Given the description of an element on the screen output the (x, y) to click on. 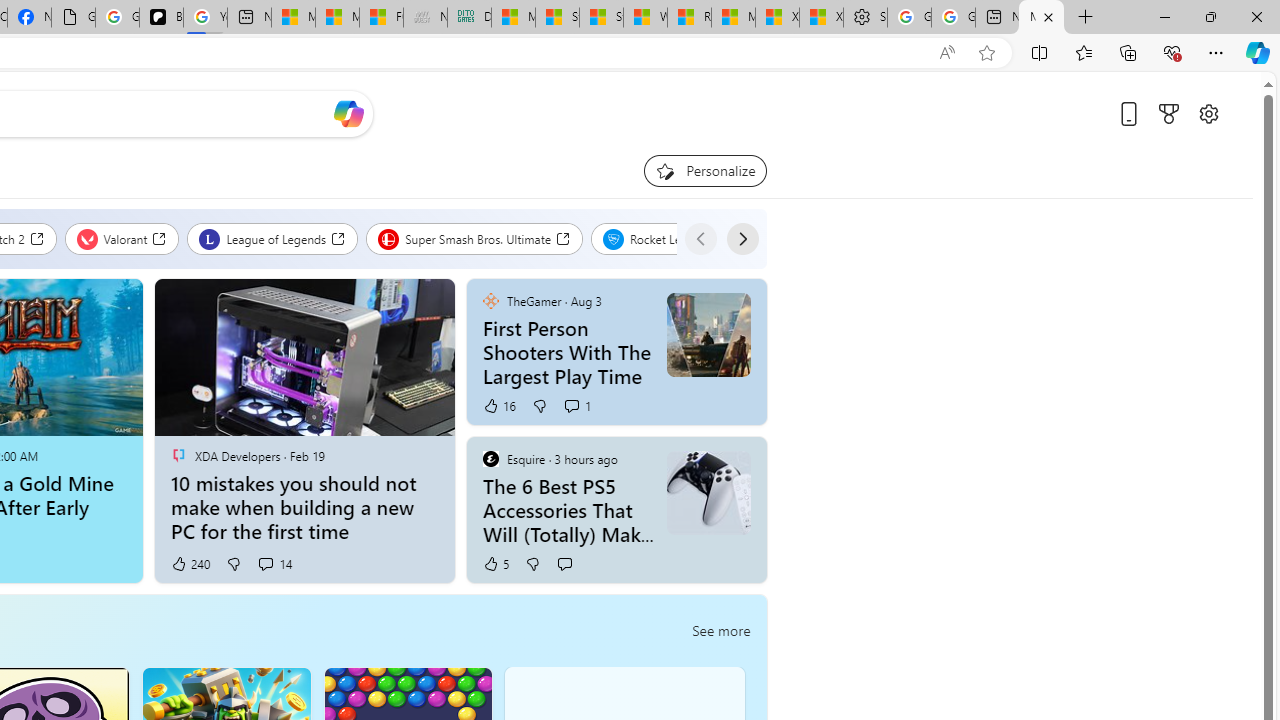
DITOGAMES AG Imprint (469, 17)
Microsoft Start Gaming (1041, 17)
Open Copilot (347, 113)
Start the conversation (564, 563)
First Person Shooters With The Largest Play Time (568, 352)
League of Legends (273, 238)
See more (721, 630)
Start the conversation (564, 564)
Google Analytics Opt-out Browser Add-on Download Page (73, 17)
FOX News - MSN (381, 17)
Microsoft Start (733, 17)
